Given the description of an element on the screen output the (x, y) to click on. 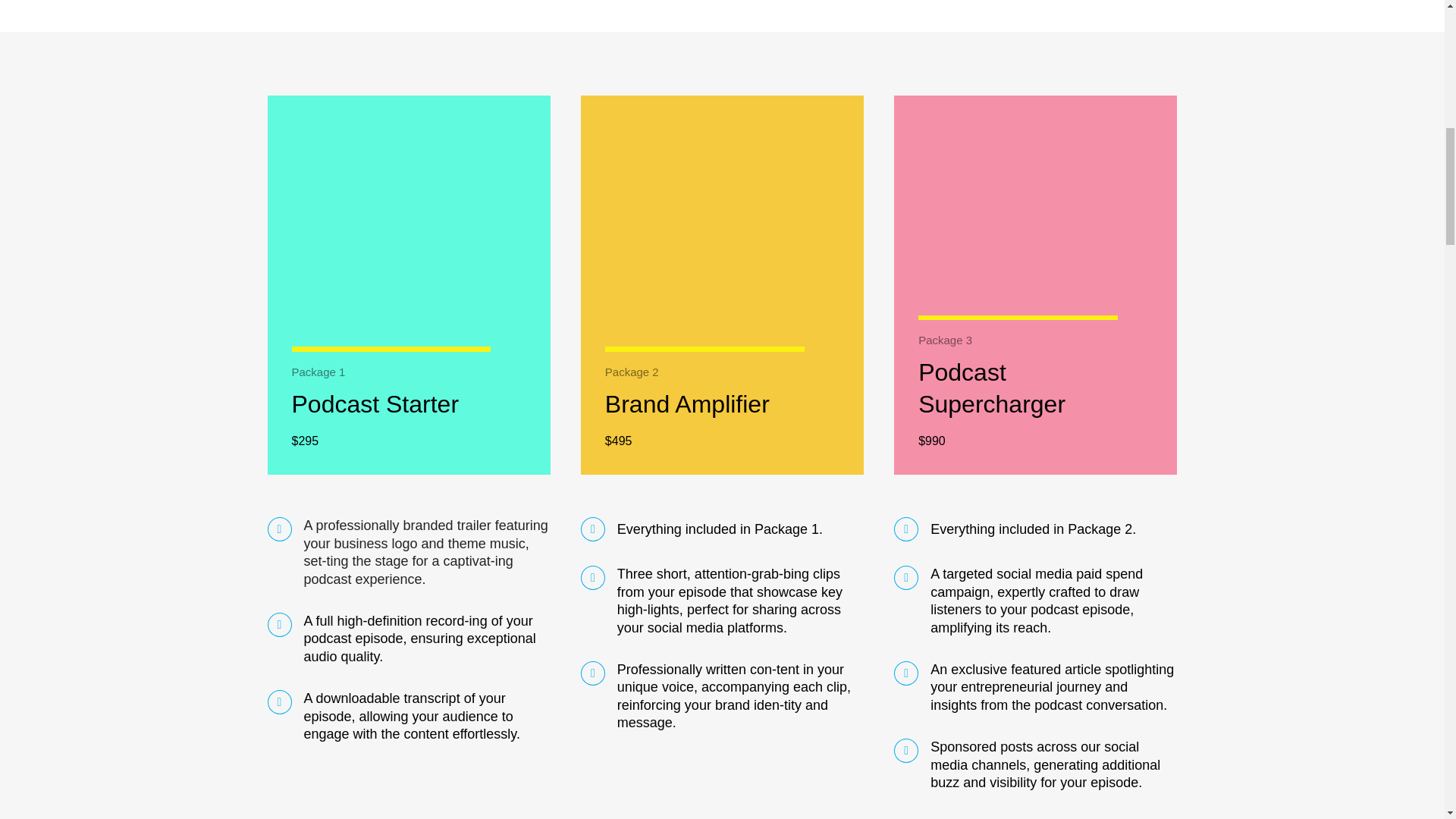
Brand Amplifier (687, 403)
Podcast Starter (374, 403)
Podcast Starter (374, 403)
Brand Amplifier (687, 403)
Podcast Supercharger (991, 387)
Podcast Supercharger (991, 387)
